Given the description of an element on the screen output the (x, y) to click on. 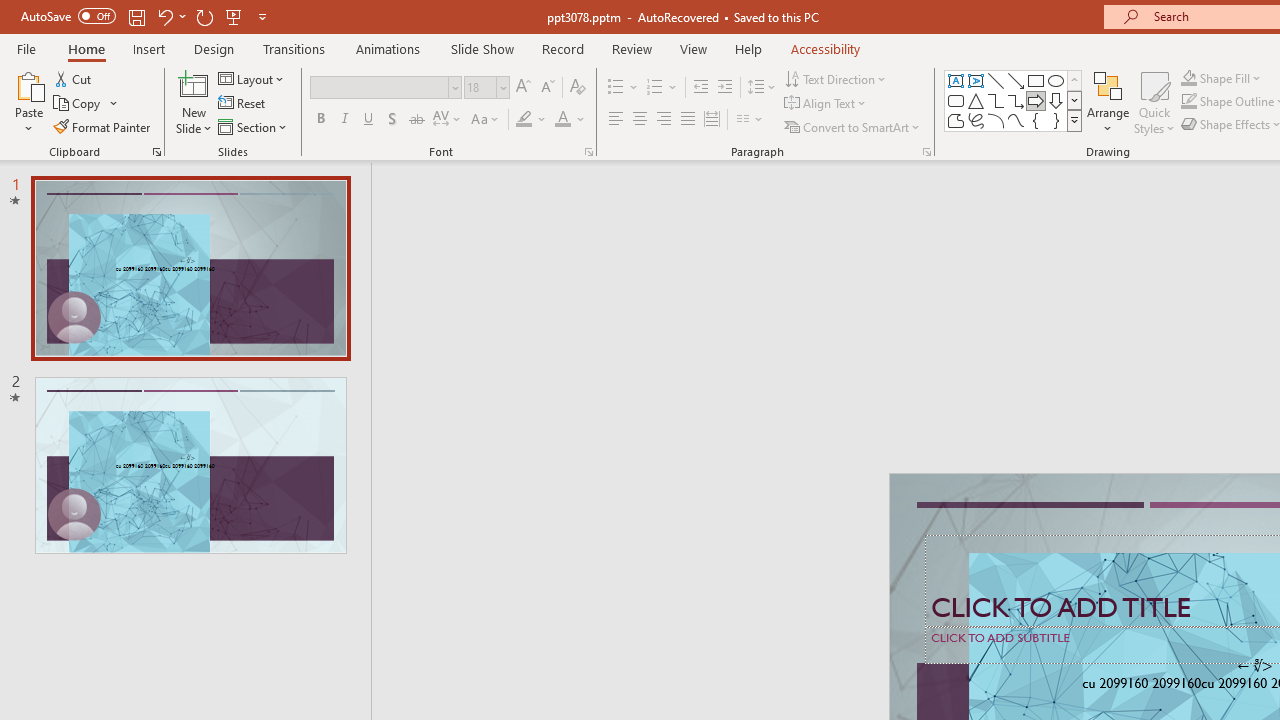
Shape Fill Dark Green, Accent 2 (1188, 78)
